Given the description of an element on the screen output the (x, y) to click on. 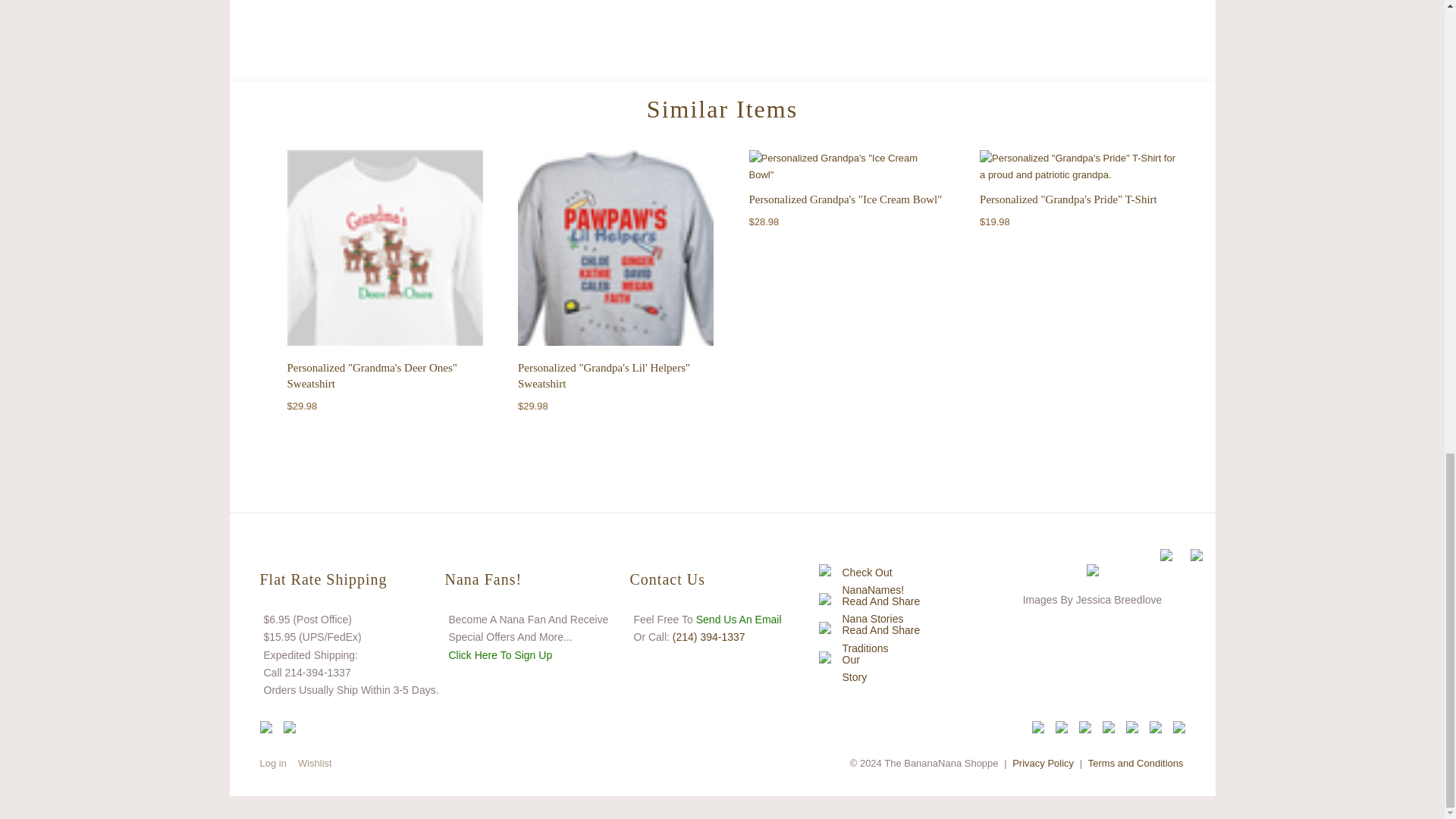
Personalized Grandpa's "Ice Cream Bowl" (846, 165)
Personalized "Grandma's Deer Ones" Sweatshirt (371, 375)
Personalized "Grandpa's Lil' Helpers" Sweatshirt (604, 375)
Personalized "Grandpa's Lil' Helpers" Sweatshirt (615, 250)
Personalized "Grandpa's Pride" T-Shirt (1068, 199)
Personalized "Grandma's Deer Ones" Sweatshirt (383, 250)
Personalized "Grandpa's Pride" T-Shirt (1076, 165)
Personalized Grandpa's "Ice Cream Bowl" (845, 199)
